Given the description of an element on the screen output the (x, y) to click on. 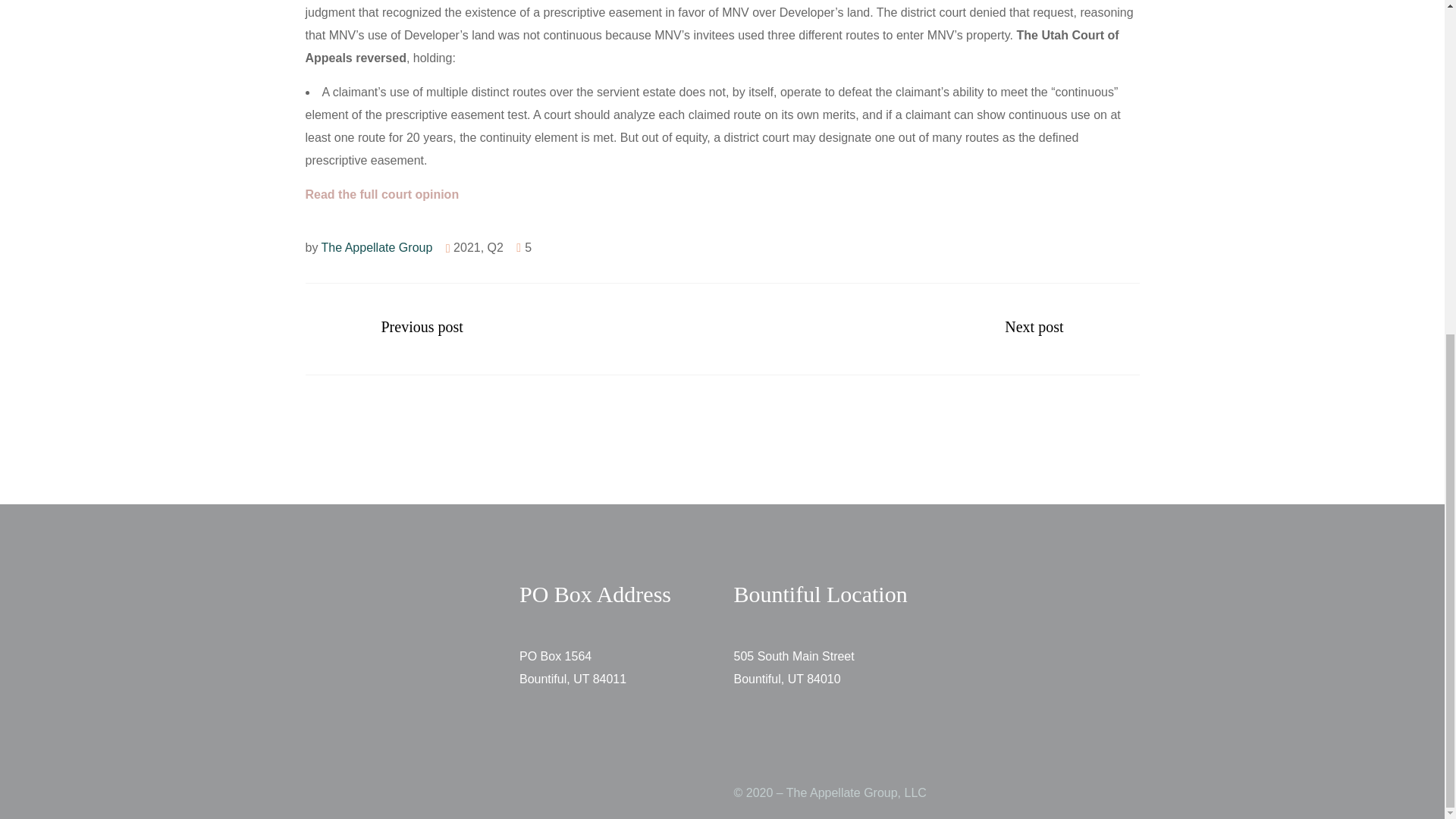
Like this (523, 246)
